Given the description of an element on the screen output the (x, y) to click on. 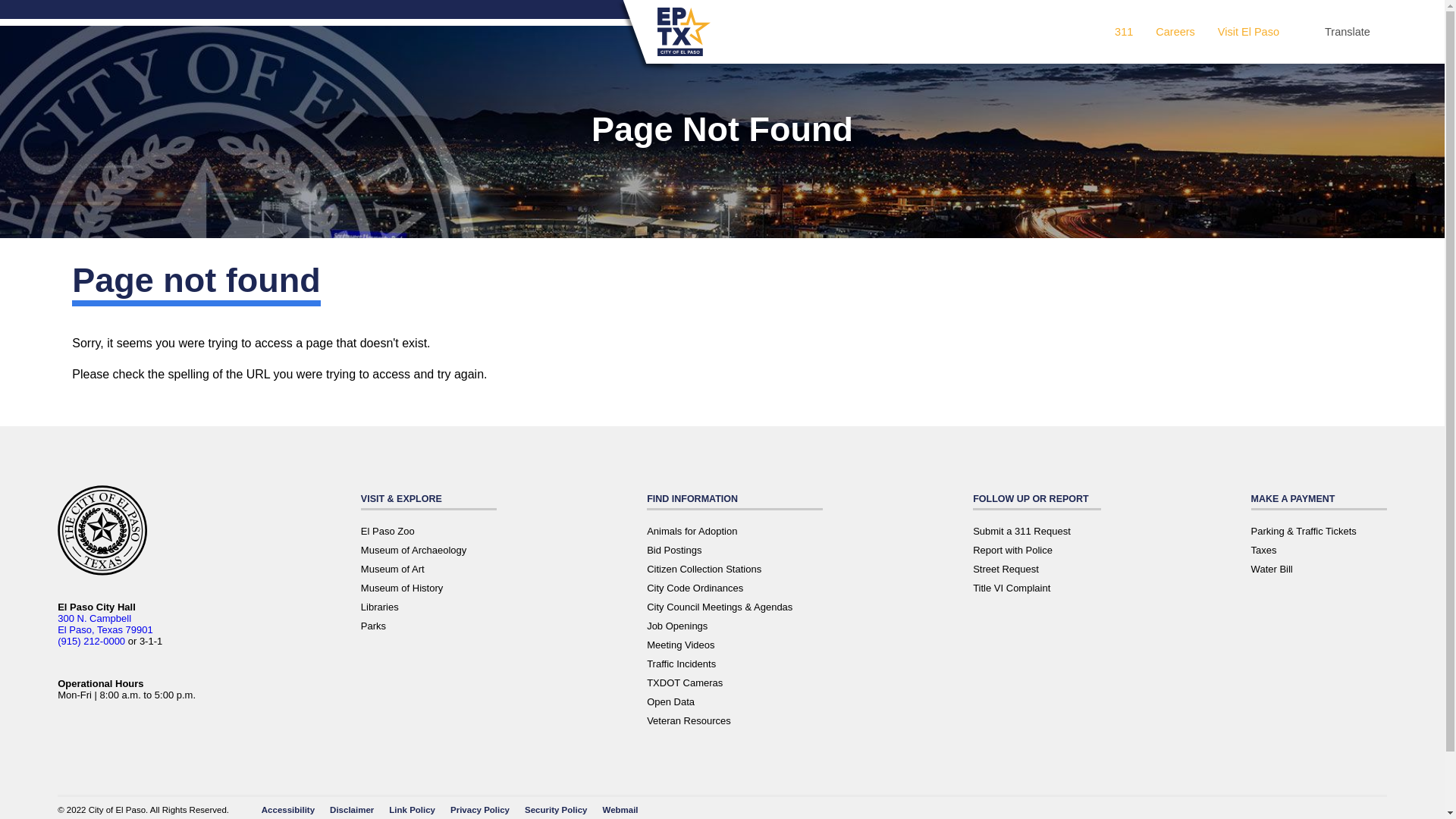
TXDOT Cameras (684, 682)
Webmail (619, 809)
Translate (1347, 31)
Report with Police (1012, 550)
Careers (1175, 31)
Museum of Art (393, 568)
Translate (1347, 31)
City Code Ordinances (694, 587)
Disclaimer (352, 809)
Privacy Policy (479, 809)
El Paso Zoo (387, 531)
Job Openings (676, 625)
Link Policy (411, 809)
Bid Postings (673, 550)
Citizen Collection Stations (703, 568)
